Given the description of an element on the screen output the (x, y) to click on. 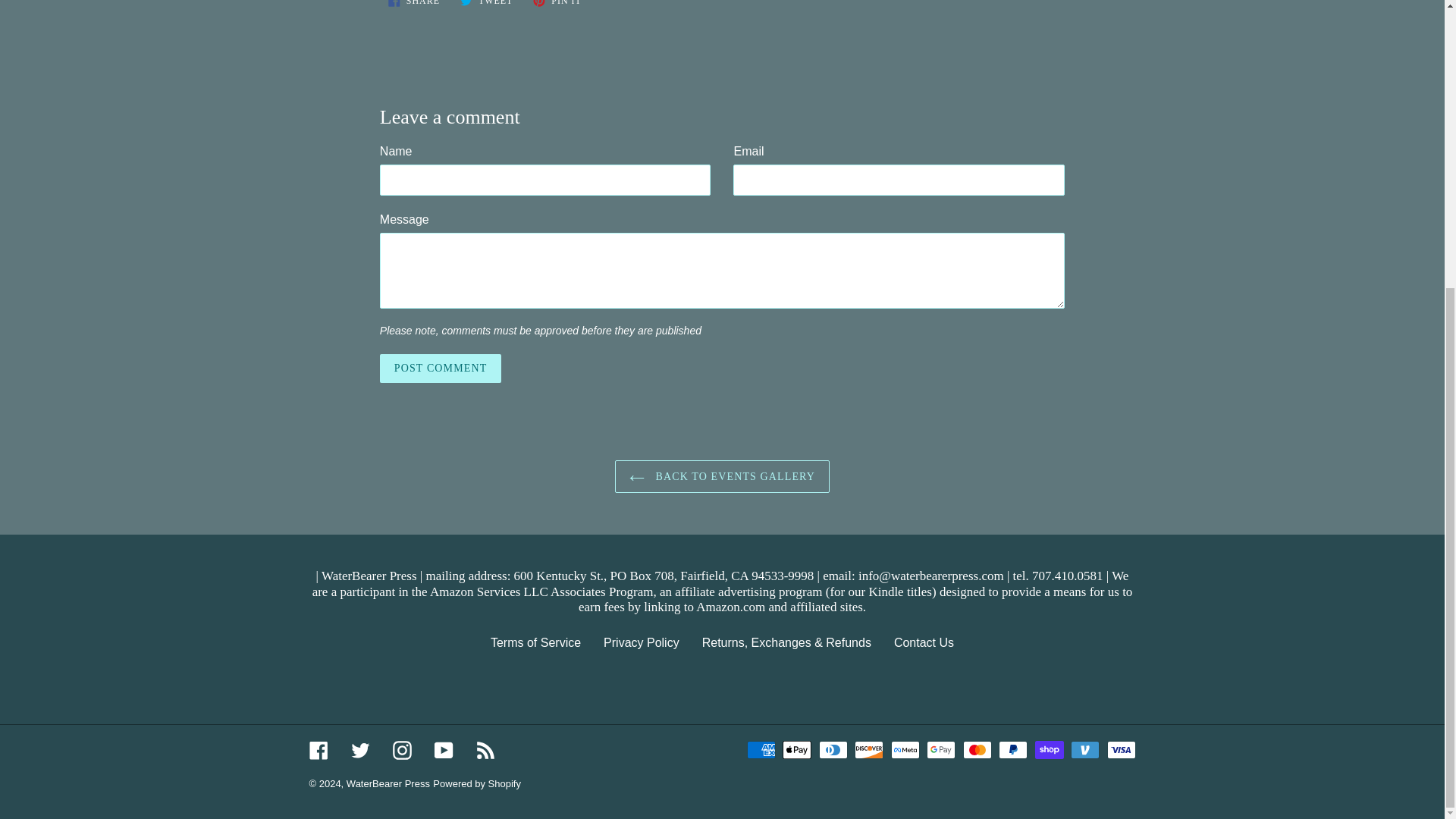
Contact Us (923, 642)
Terms of Service (535, 642)
Privacy Policy (414, 6)
Twitter (641, 642)
RSS (359, 750)
Post comment (485, 750)
YouTube (486, 6)
Post comment (440, 367)
Instagram (442, 750)
BACK TO EVENTS GALLERY (440, 367)
WaterBearer Press (402, 750)
Facebook (721, 476)
